Given the description of an element on the screen output the (x, y) to click on. 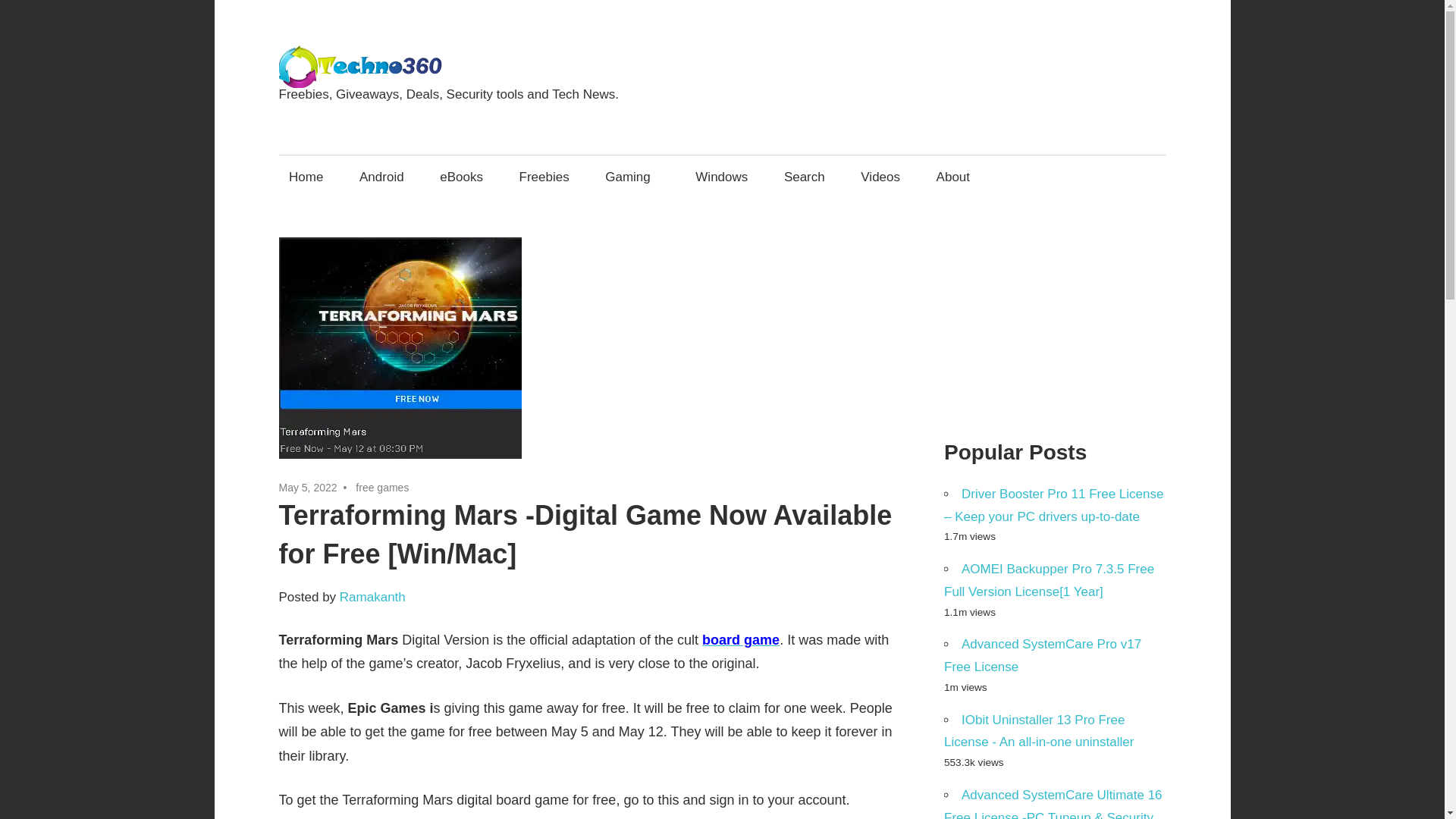
May 5, 2022 (308, 487)
Home (306, 176)
Ramakanth (372, 596)
Gaming (632, 176)
Android (381, 176)
Search (803, 176)
free games (382, 487)
About (958, 176)
Videos (880, 176)
View all posts by Ramakanth (372, 596)
eBooks (461, 176)
board game (739, 639)
9:57 pm (308, 487)
Freebies (543, 176)
Advanced SystemCare Pro v17 Free License (1042, 655)
